Given the description of an element on the screen output the (x, y) to click on. 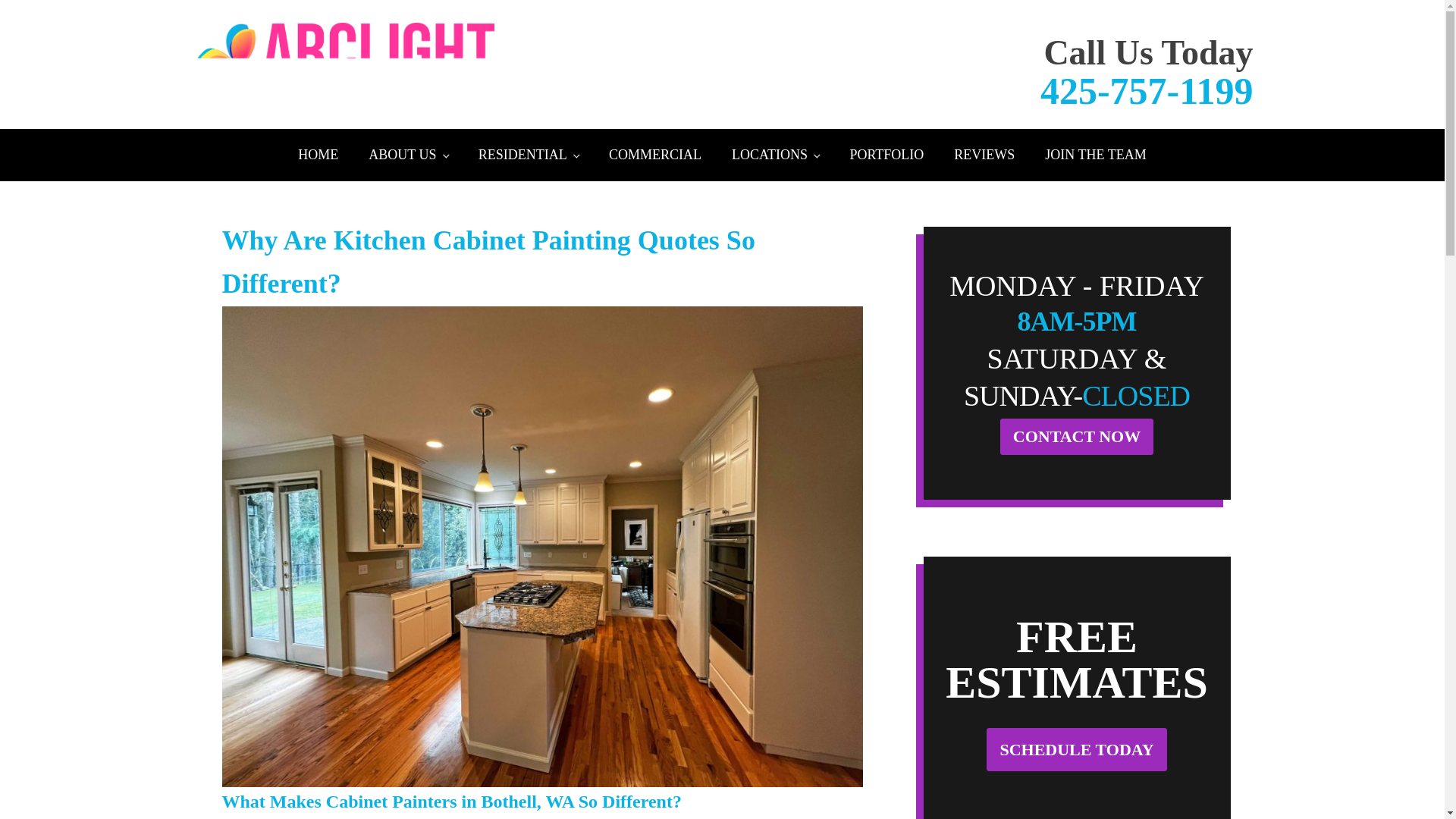
COMMERCIAL (655, 154)
REVIEWS (984, 154)
ABOUT US (408, 154)
RESIDENTIAL (528, 154)
PORTFOLIO (886, 154)
425-757-1199 (1147, 90)
JOIN THE TEAM (1094, 154)
LOCATIONS (775, 154)
HOME (317, 154)
